Given the description of an element on the screen output the (x, y) to click on. 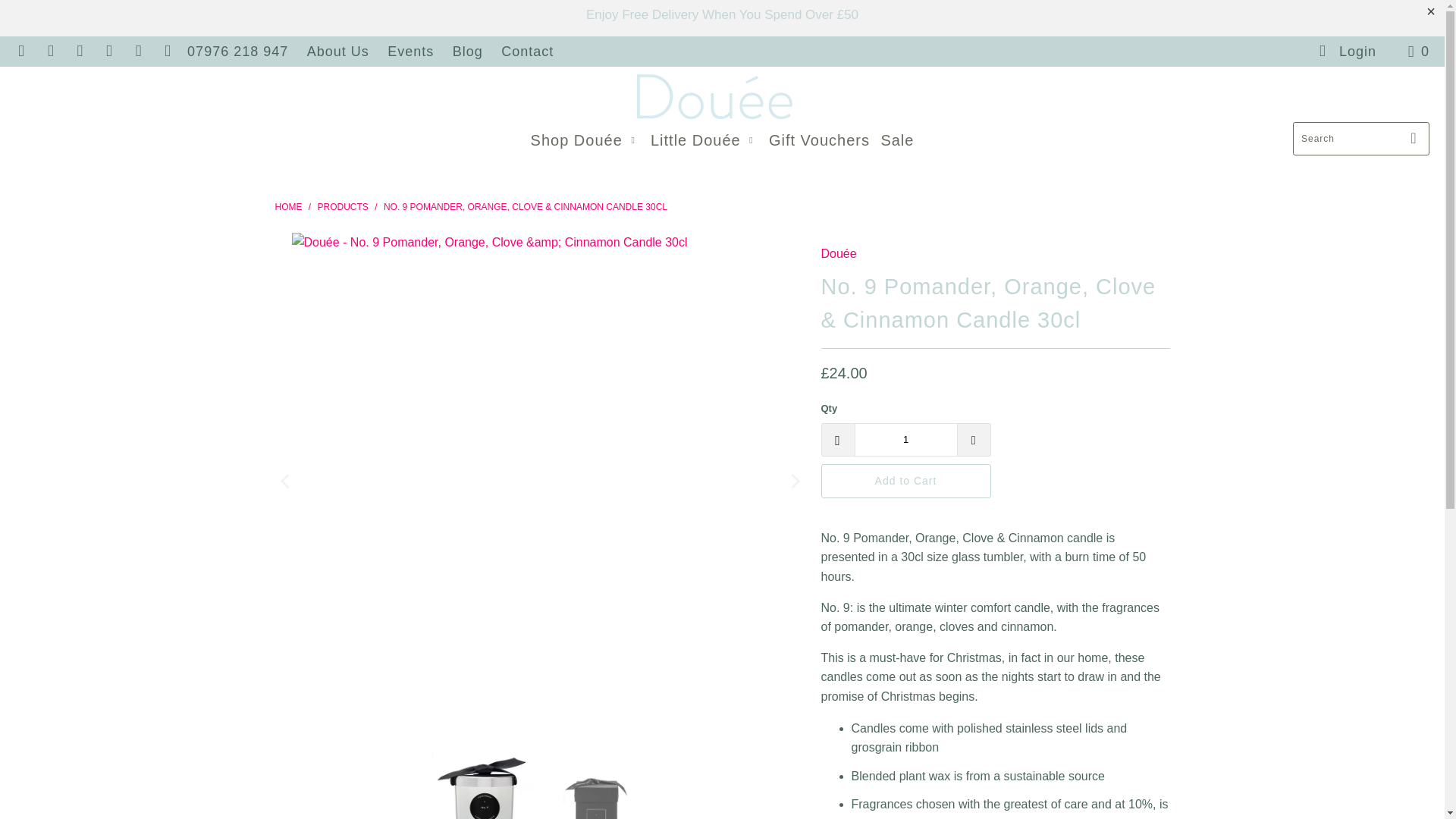
My Account  (1346, 51)
1 (904, 439)
Products (342, 206)
